Given the description of an element on the screen output the (x, y) to click on. 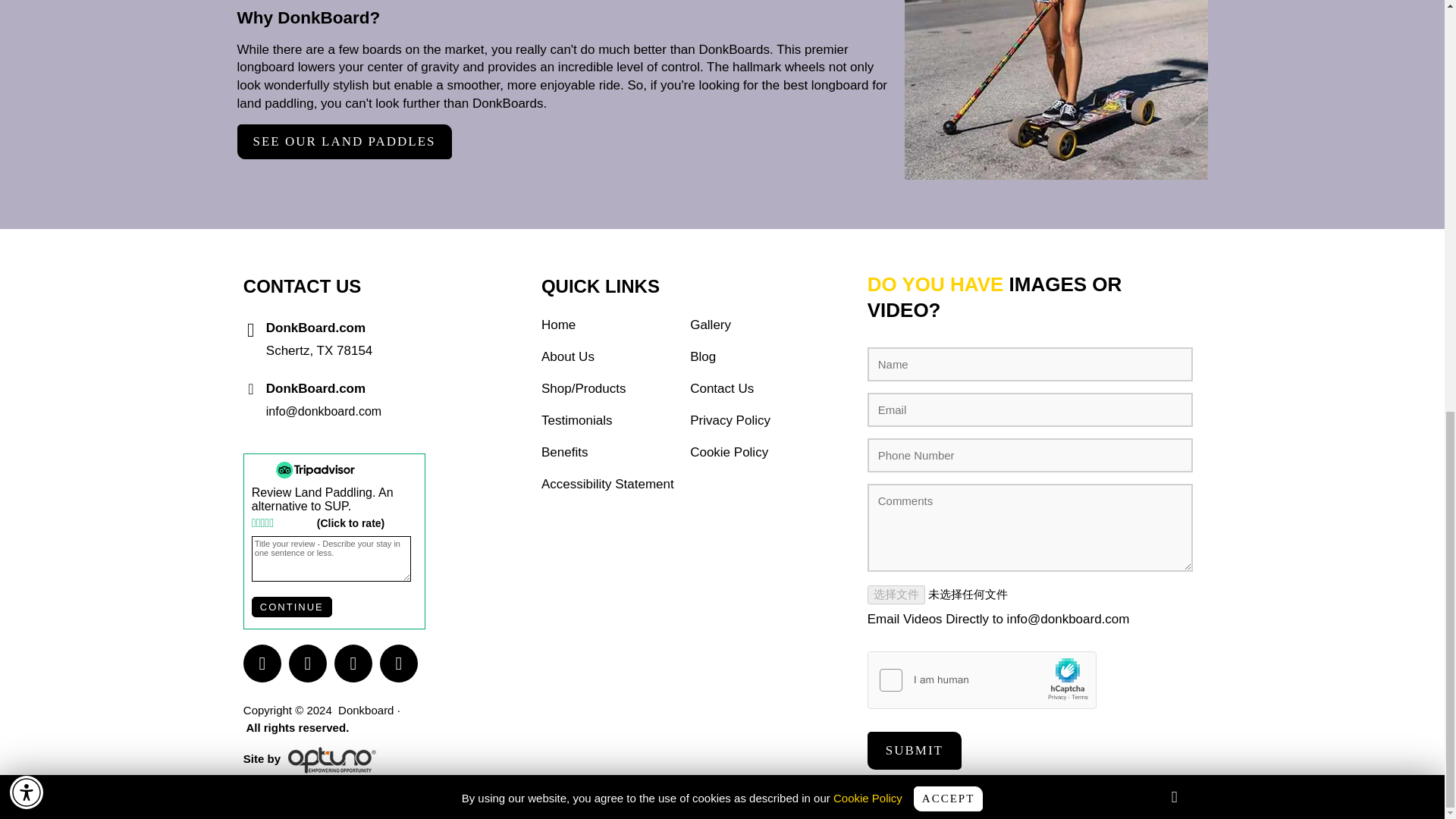
Continue (291, 607)
Widget containing checkbox for hCaptcha security challenge (982, 680)
SEE OUR LAND PADDLES (343, 141)
Submit (913, 750)
